Given the description of an element on the screen output the (x, y) to click on. 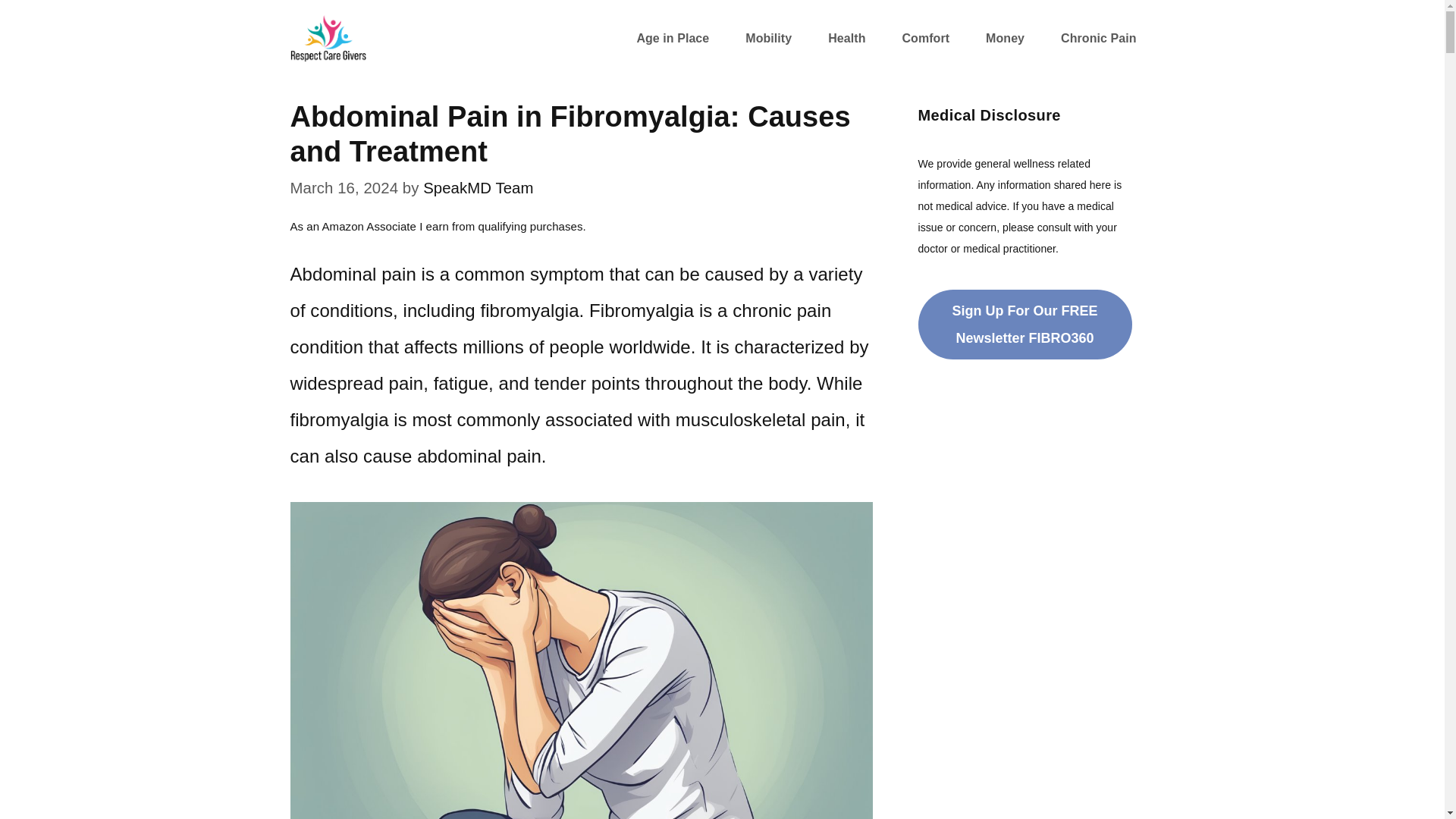
Money (1005, 38)
Age in Place (671, 38)
Mobility (767, 38)
Comfort (925, 38)
Sign Up For Our FREE Newsletter FIBRO360 (1024, 324)
Health (846, 38)
Chronic Pain (1098, 38)
View all posts by SpeakMD Team (477, 187)
SpeakMD Team (477, 187)
